Given the description of an element on the screen output the (x, y) to click on. 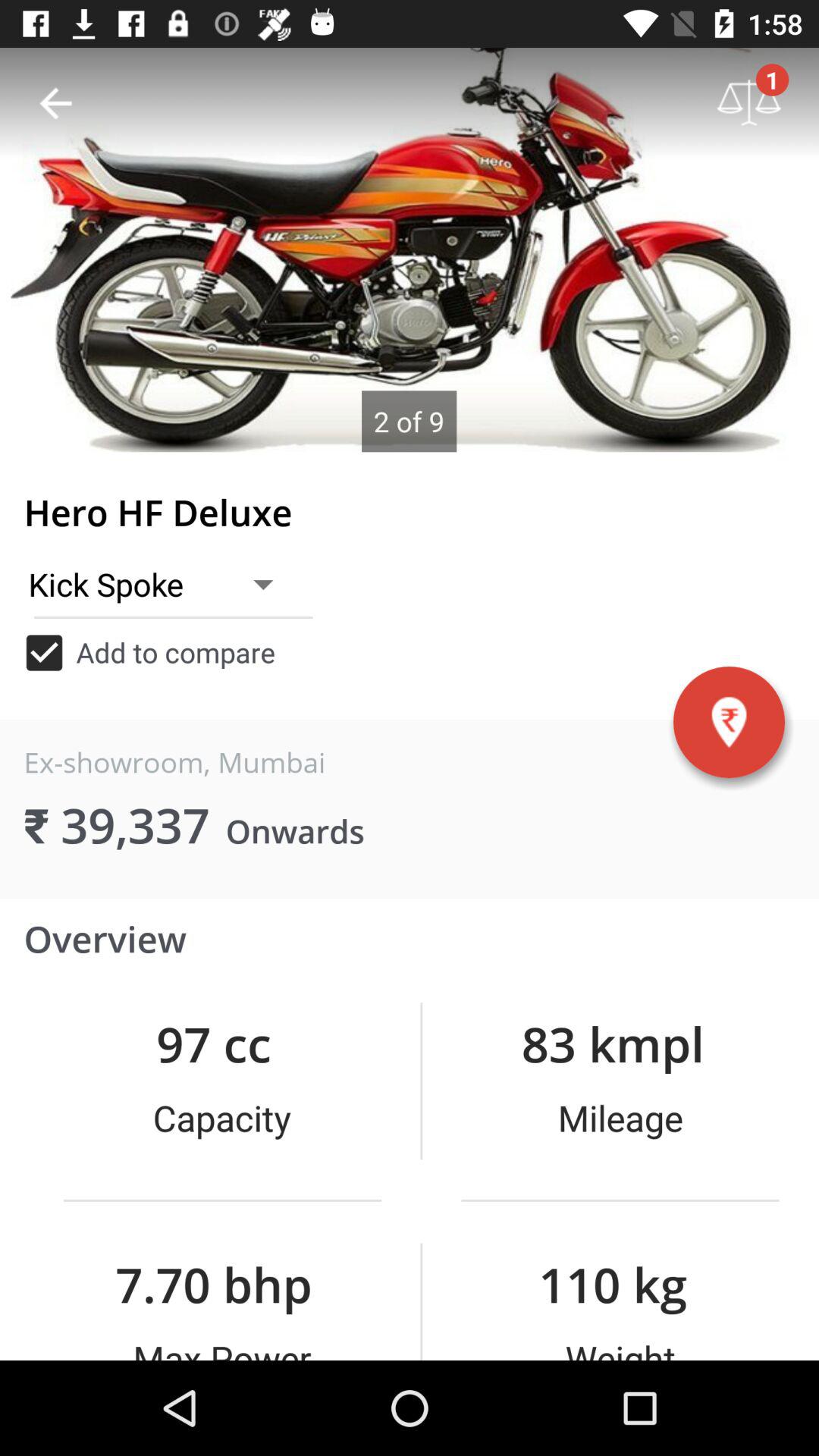
launch the icon at the top left corner (55, 103)
